Given the description of an element on the screen output the (x, y) to click on. 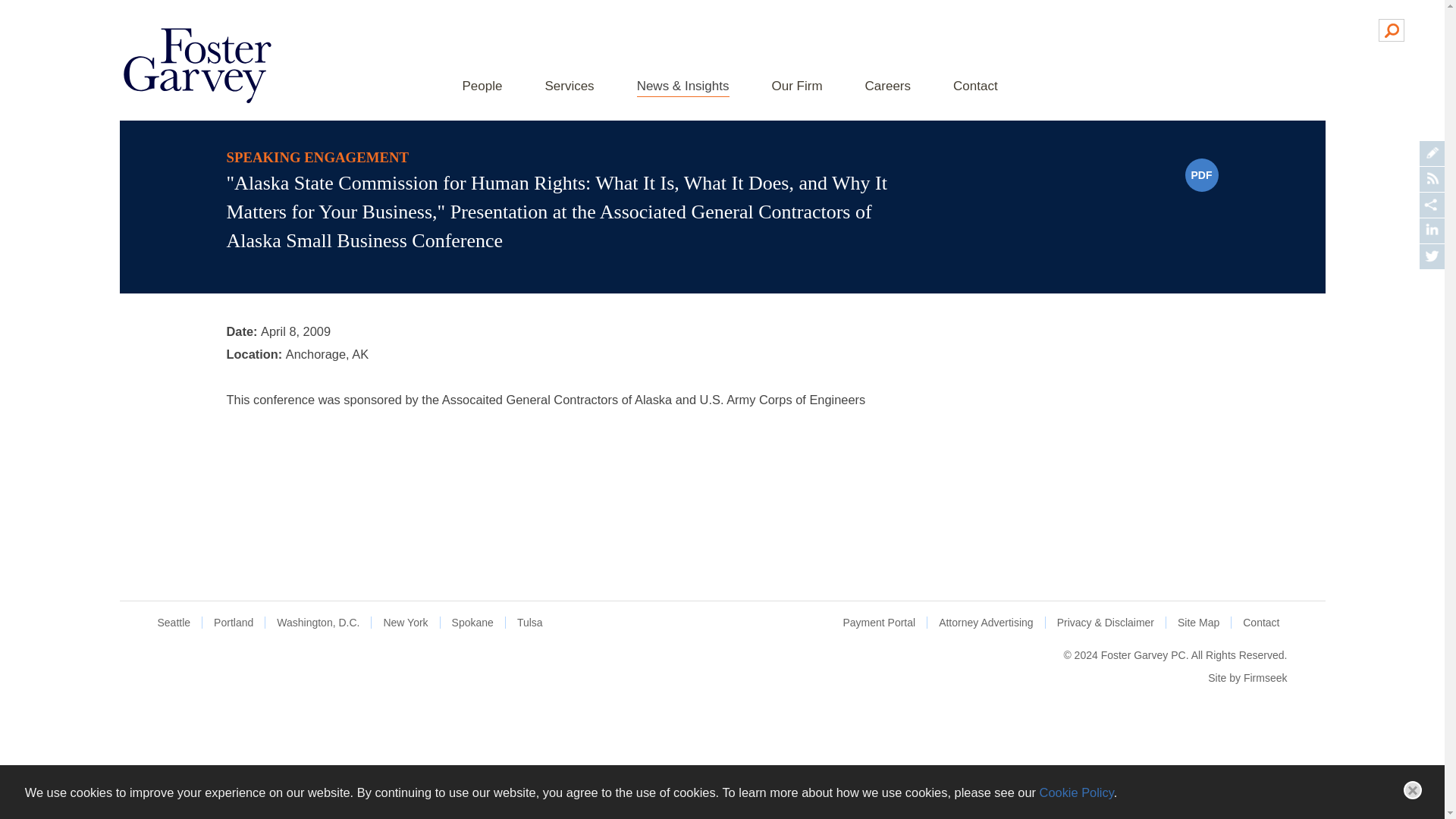
PDF (1201, 174)
People (482, 87)
Careers (887, 87)
Services (569, 87)
Our Firm (796, 87)
